Given the description of an element on the screen output the (x, y) to click on. 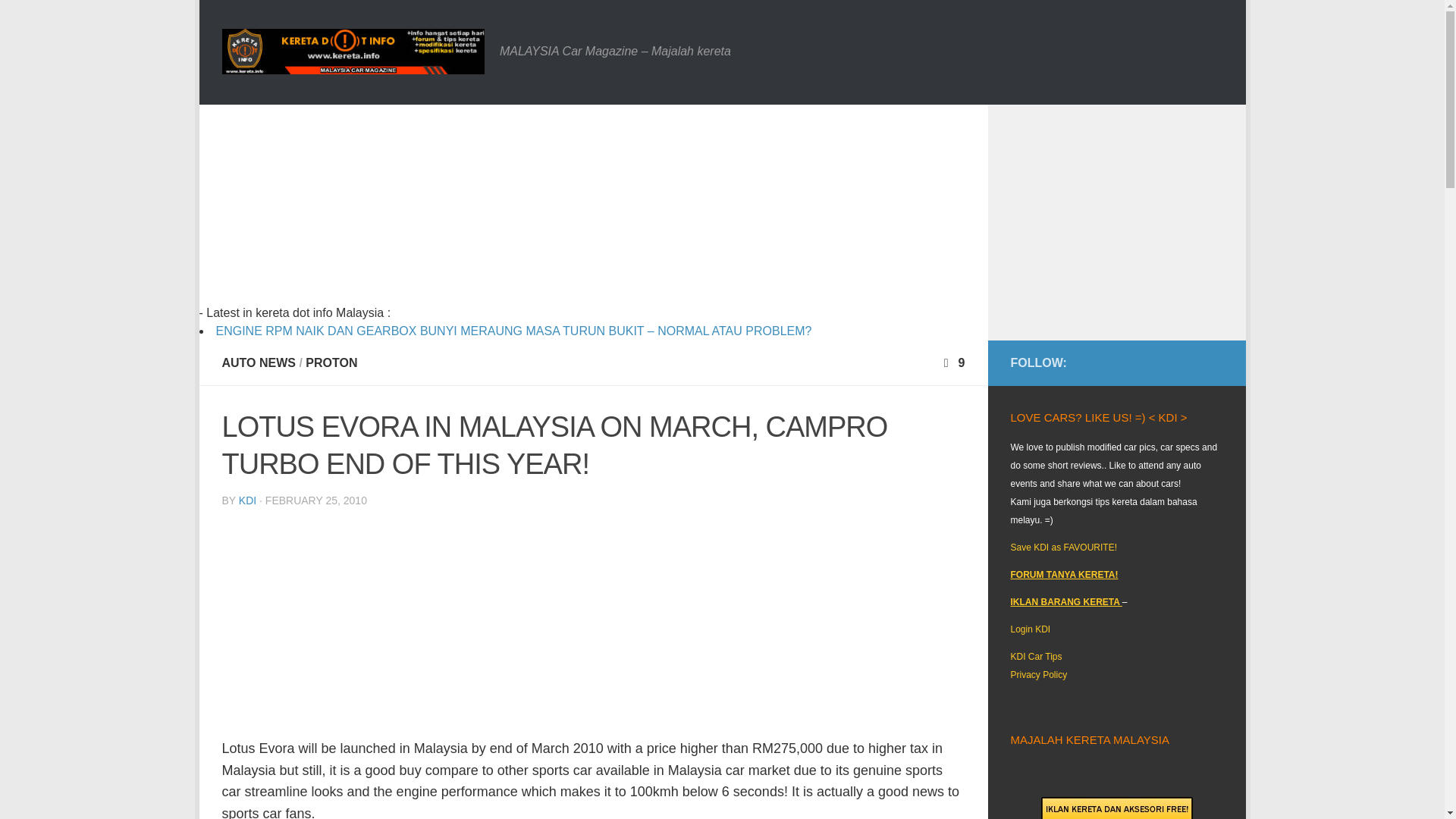
IKLAN BARANG KERETA (1065, 602)
9 (952, 362)
Privacy Policy (1038, 674)
Login KDI (1029, 629)
Advertisement (521, 210)
KDI Car Tips (1035, 656)
PROTON (330, 362)
Posts by kdi (247, 500)
Advertisement (592, 626)
KDI (247, 500)
AUTO NEWS (258, 362)
Save KDI as FAVOURITE! (1063, 547)
FORUM TANYA KERETA! (1064, 574)
